Given the description of an element on the screen output the (x, y) to click on. 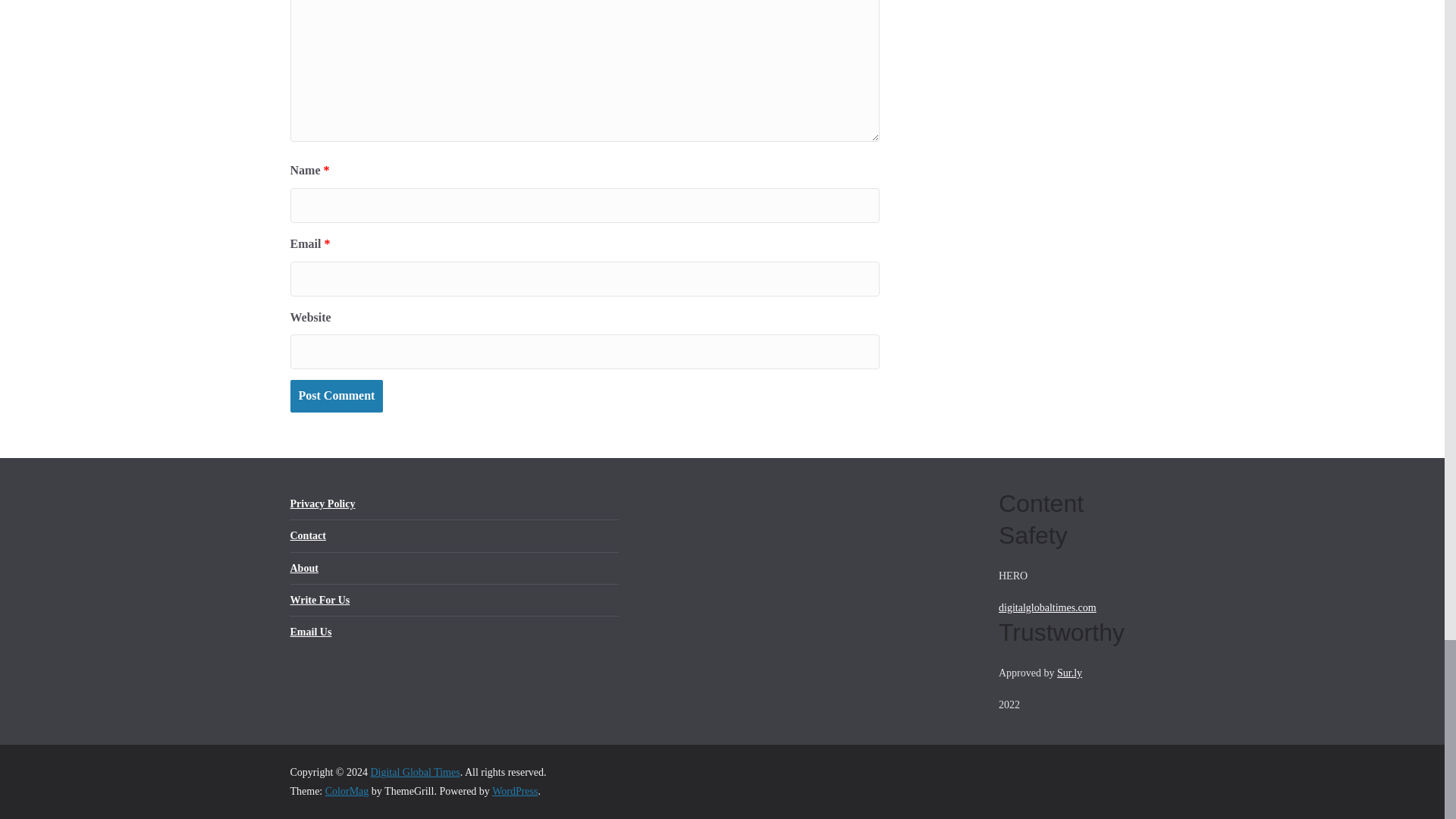
Post Comment (335, 396)
Post Comment (335, 396)
